Given the description of an element on the screen output the (x, y) to click on. 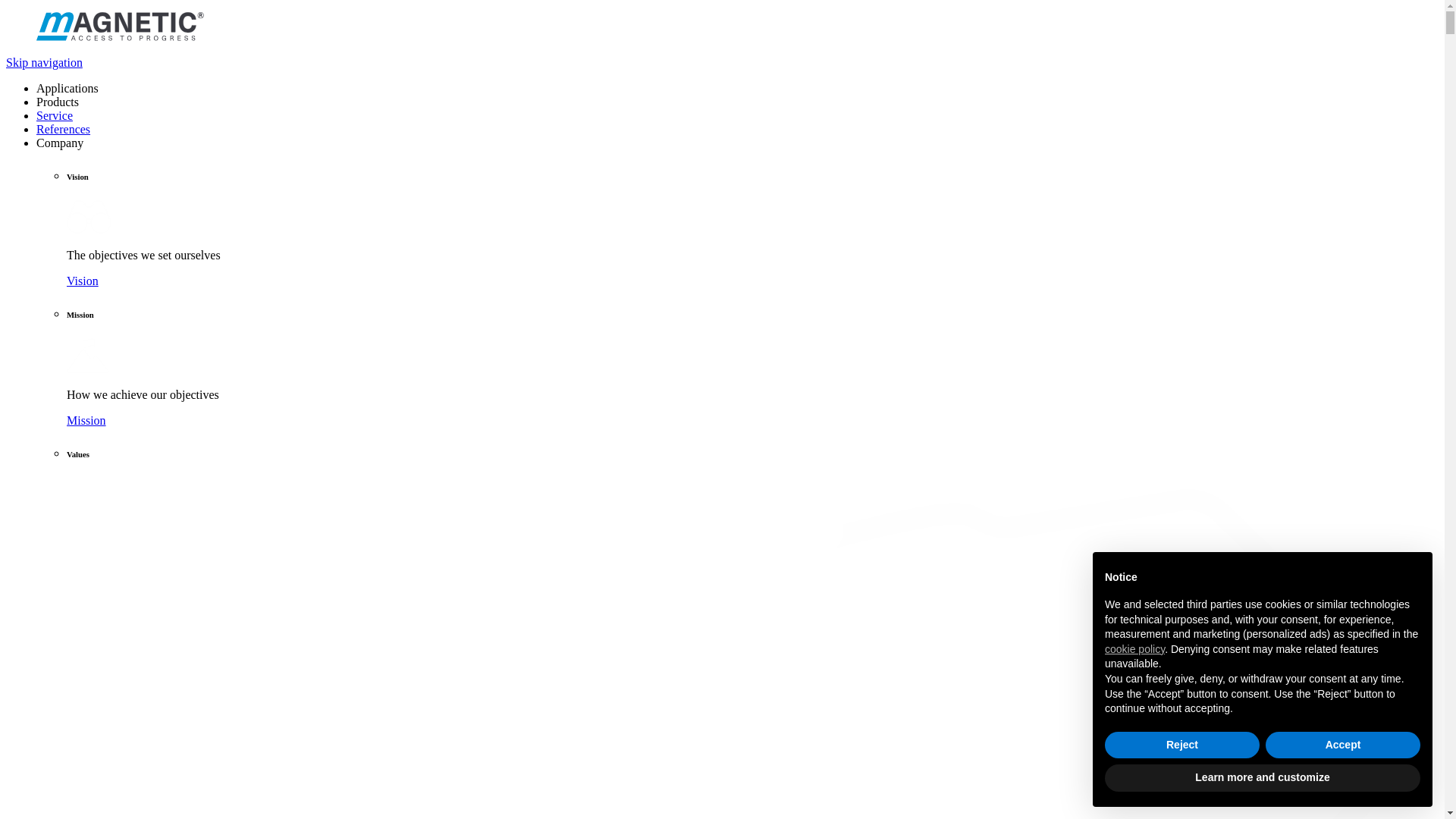
cookie policy Element type: text (1134, 649)
Accept Element type: text (1342, 745)
Vision Element type: text (82, 280)
To the homepage Element type: hover (722, 27)
Products Element type: text (57, 101)
Applications Element type: text (67, 87)
Company Element type: text (59, 142)
Skip navigation Element type: text (44, 62)
References Element type: text (63, 128)
Reject Element type: text (1181, 745)
Service Element type: text (54, 115)
Mission Element type: text (86, 420)
Learn more and customize Element type: text (1262, 777)
